Given the description of an element on the screen output the (x, y) to click on. 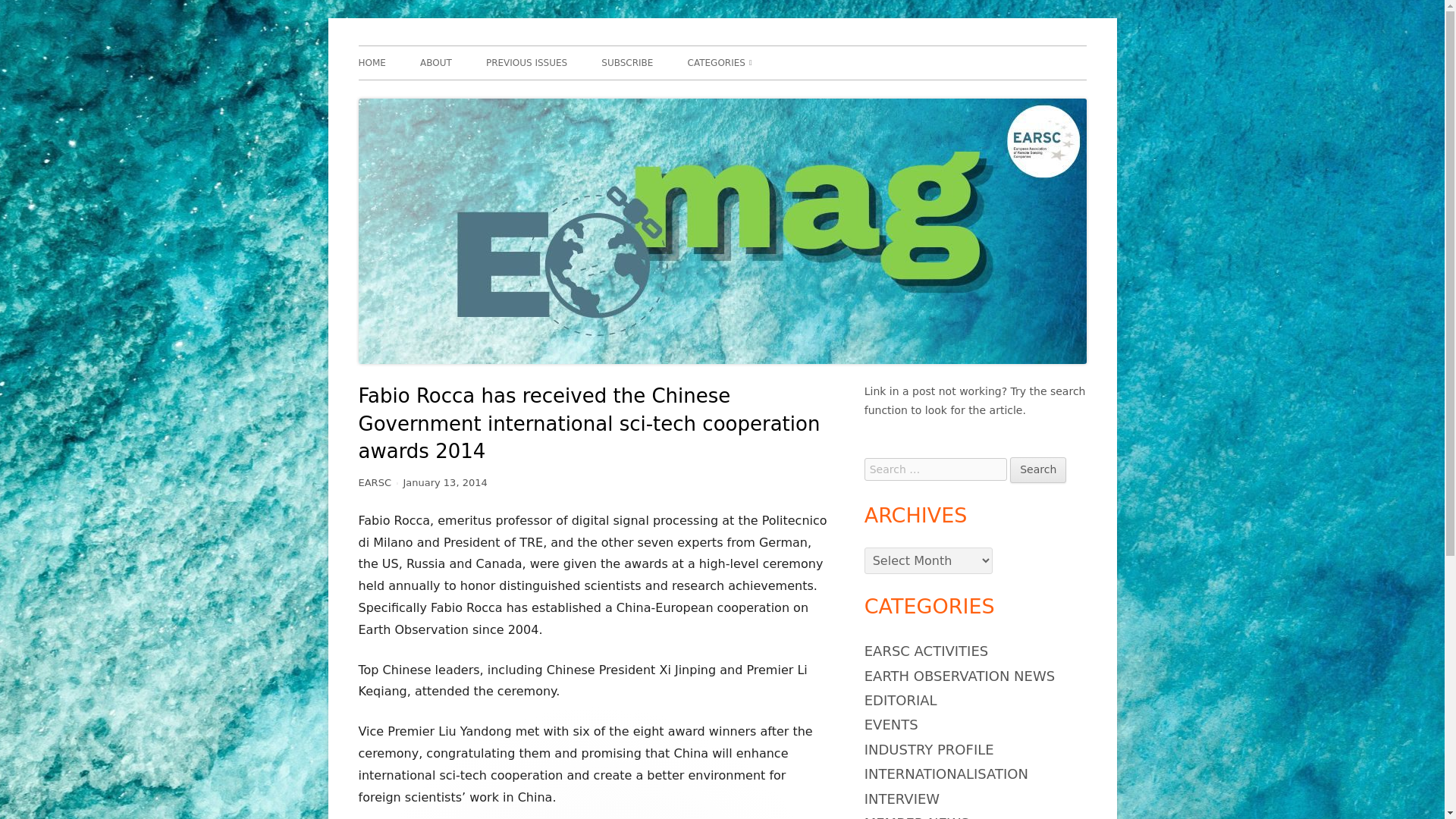
Search (1037, 470)
EARSC (374, 482)
ABOUT (435, 62)
EARTH OBSERVATION NEWS (959, 675)
EARSC ACTIVITIES (926, 650)
INTERVIEW (901, 798)
January 13, 2014 (444, 482)
MEMBER NEWS (916, 816)
INTERNATIONALISATION (945, 773)
EVENTS (891, 724)
